Given the description of an element on the screen output the (x, y) to click on. 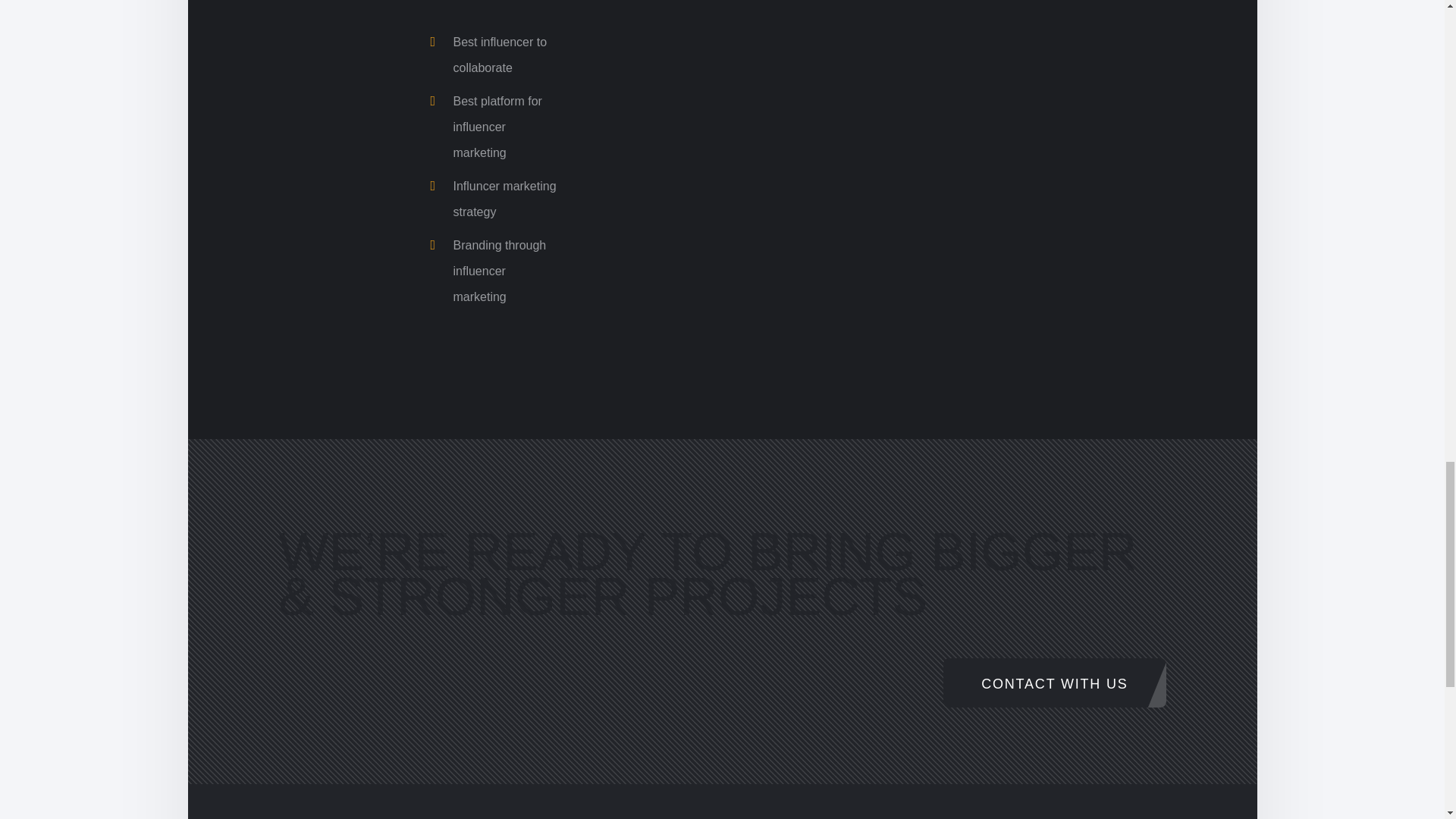
CONTACT WITH US (1054, 682)
